Given the description of an element on the screen output the (x, y) to click on. 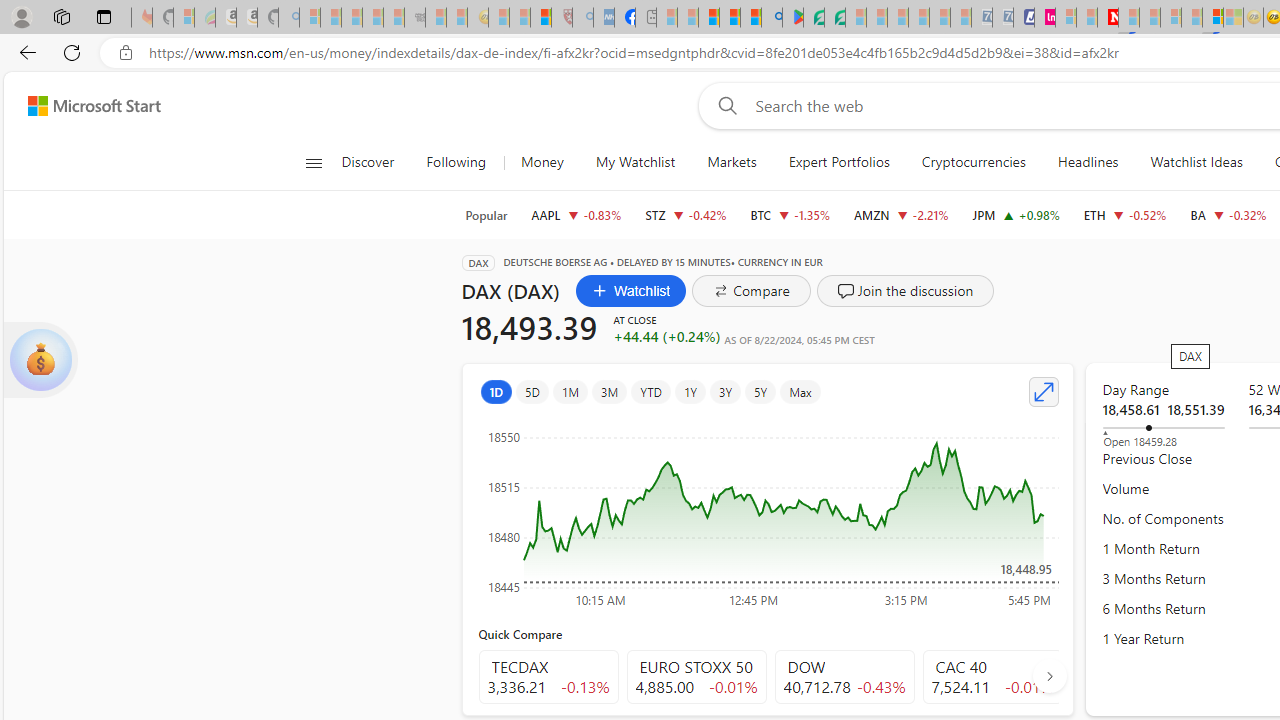
Microsoft Word - consumer-privacy address update 2.2021 (834, 17)
1M (569, 391)
BTC Bitcoin decrease 60,511.01 -814.48 -1.35% (790, 214)
STZ CONSTELLATION BRANDS, INC. decrease 243.70 -1.04 -0.42% (685, 214)
